Given the description of an element on the screen output the (x, y) to click on. 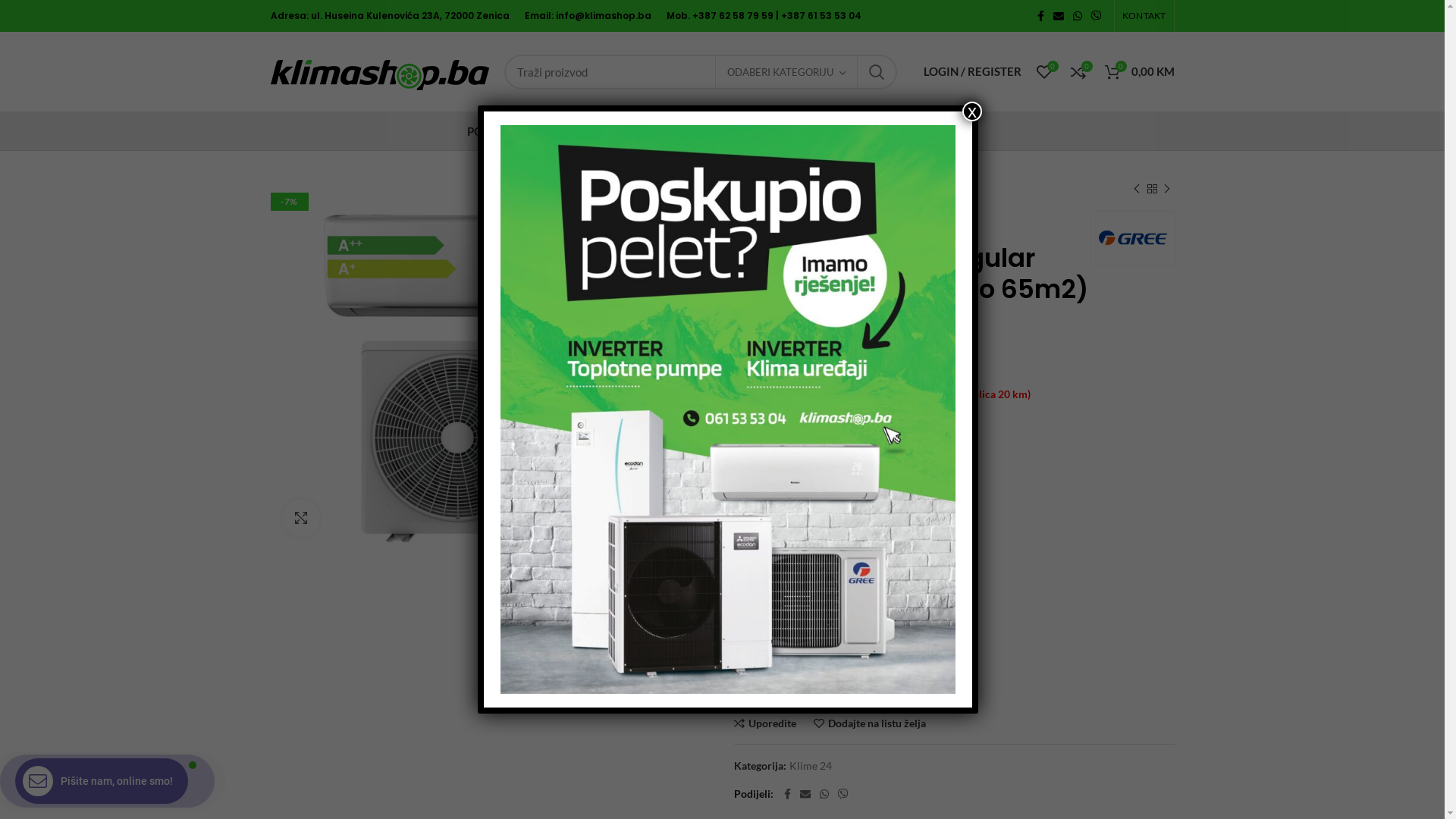
REFERENCE Element type: text (721, 131)
Facebook Element type: text (787, 793)
Viber Element type: text (1096, 15)
O NAMA Element type: text (561, 131)
Facebook Element type: text (1040, 15)
Uporedite Element type: text (765, 723)
LOGIN / REGISTER Element type: text (972, 71)
Previous product Element type: text (1135, 188)
Email Element type: text (1058, 15)
ODABERI KATEGORIJU Element type: text (785, 72)
0 Element type: text (1078, 71)
WhatsApp Element type: text (1077, 15)
0 Element type: text (1043, 71)
Klime 24 Element type: text (809, 765)
KONTAKT Element type: text (1143, 15)
Next product Element type: text (1165, 188)
WEB SHOP Element type: text (637, 131)
info@klimashop.ba Element type: text (602, 15)
Gree Element type: hover (1132, 237)
lomoregular_gree_gwh12qc_klimashop_zenica Element type: hover (489, 363)
Viber Element type: text (842, 793)
x Element type: text (972, 111)
WhatsApp Element type: text (823, 793)
Email Element type: text (804, 793)
SEARCH Element type: text (875, 71)
DODAJ U KORPU Element type: text (859, 683)
0
0,00 KM Element type: text (1138, 71)
KONTAKT Element type: text (949, 131)
